Given the description of an element on the screen output the (x, y) to click on. 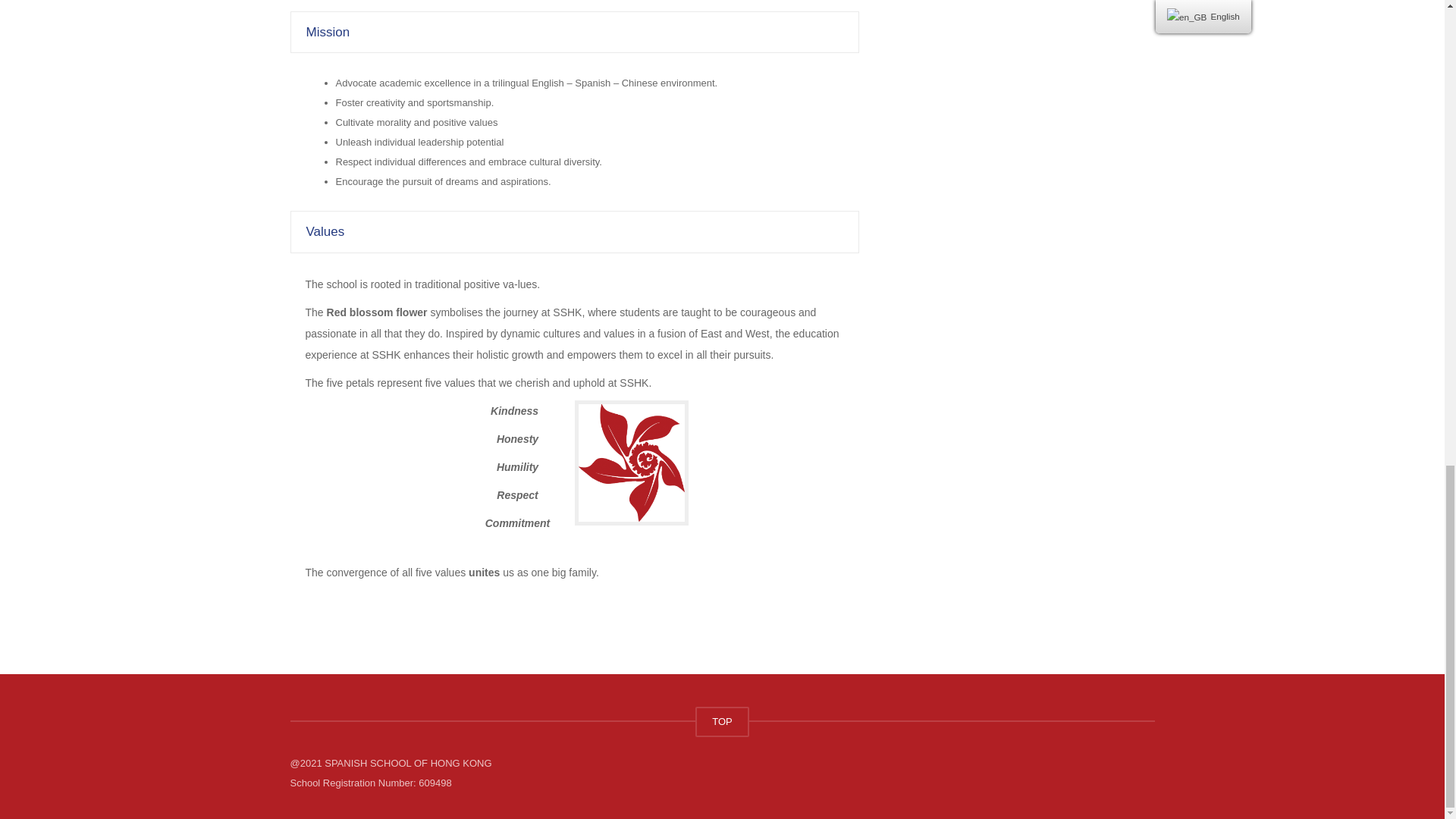
TOP (722, 721)
Mission (575, 32)
Values (575, 231)
